Given the description of an element on the screen output the (x, y) to click on. 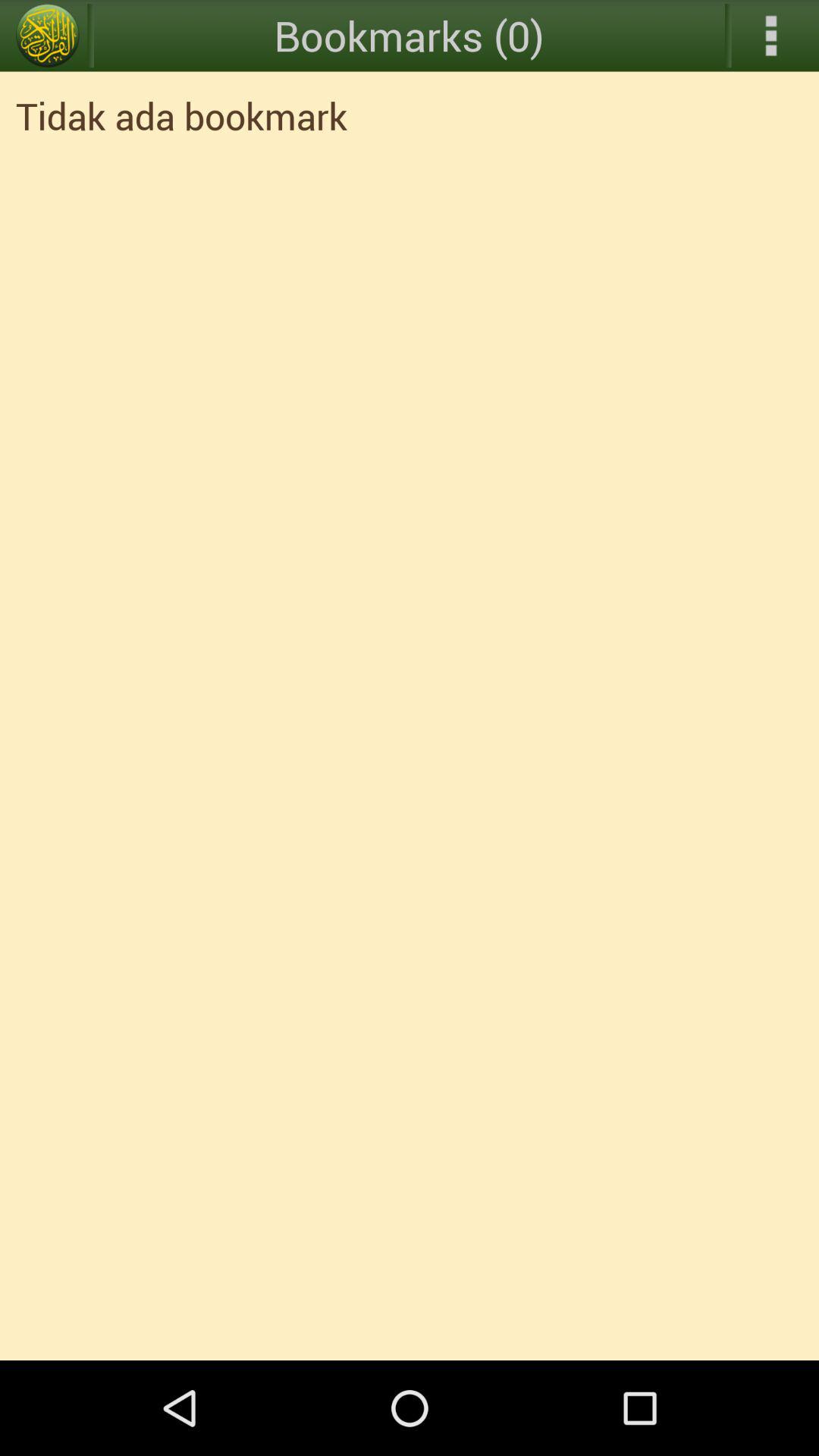
open drop down menu (771, 35)
